Given the description of an element on the screen output the (x, y) to click on. 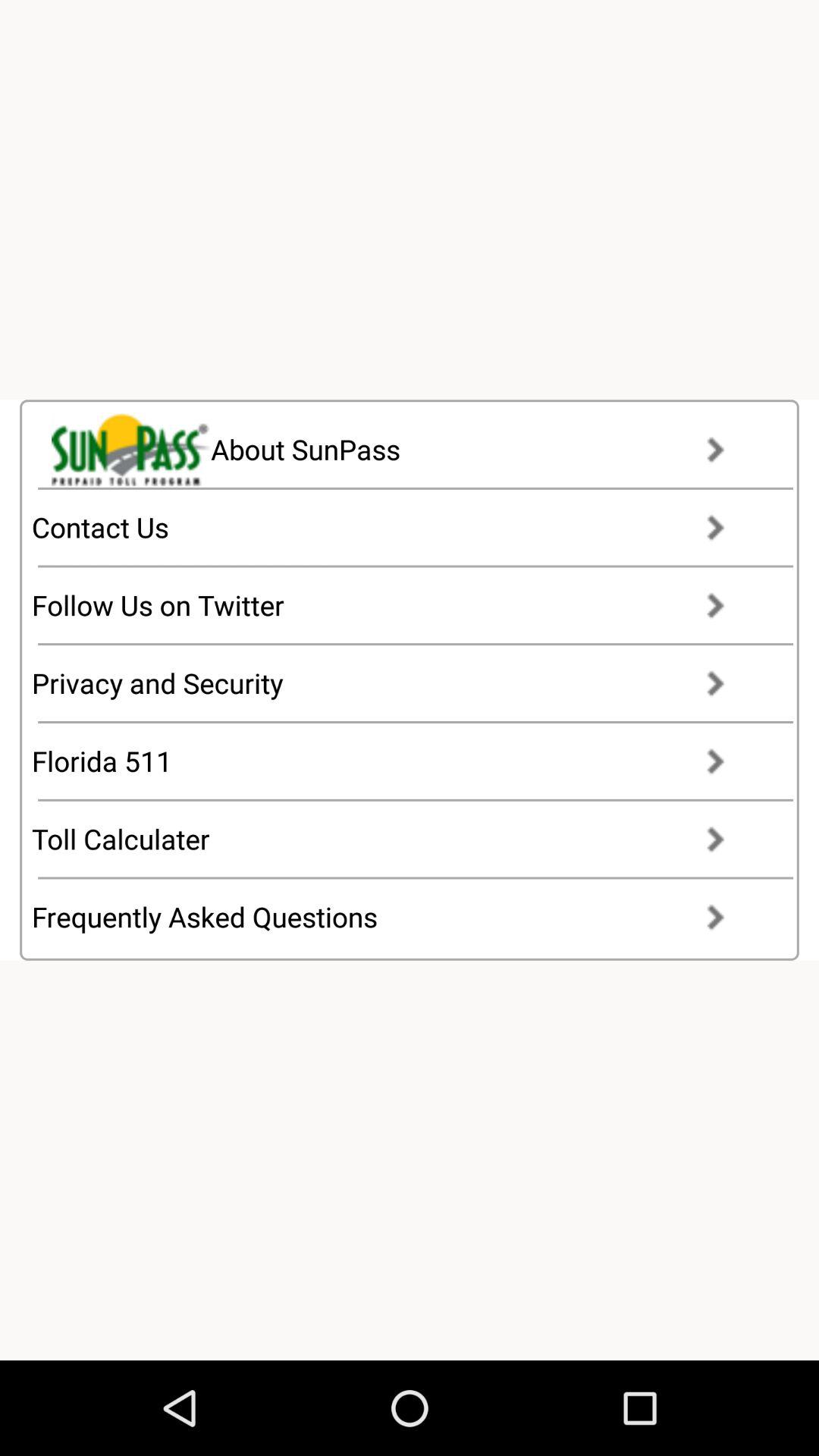
scroll to the privacy and security (392, 683)
